Given the description of an element on the screen output the (x, y) to click on. 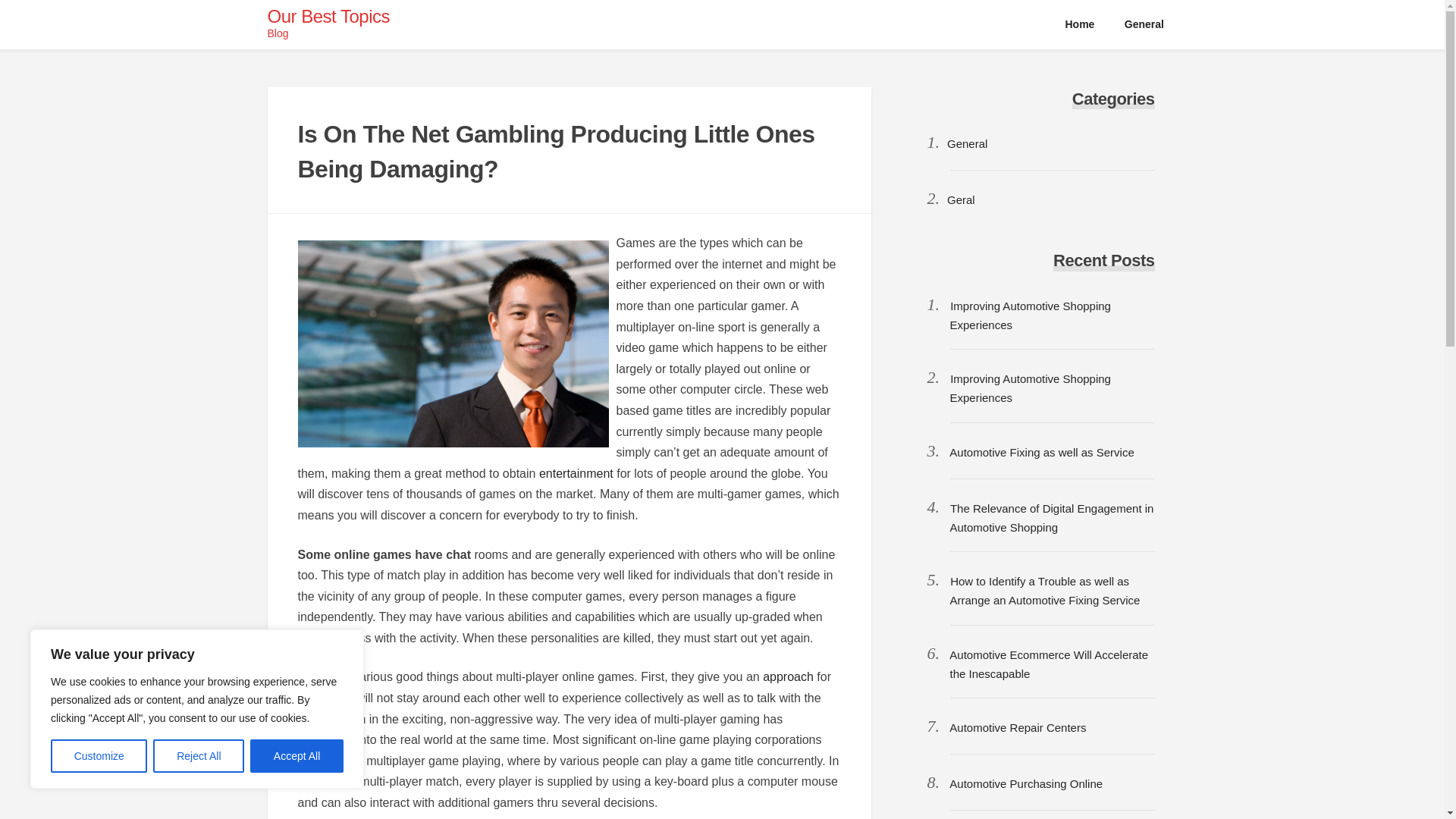
Improving Automotive Shopping Experiences (1029, 388)
entertainment (575, 472)
Geral (961, 199)
Reject All (198, 756)
The Relevance of Digital Engagement in Automotive Shopping (1051, 517)
Automotive Ecommerce Will Accelerate the Inescapable (1048, 664)
Accept All (296, 756)
Our Best Topics (327, 15)
Customize (98, 756)
General (1143, 24)
Automotive Purchasing Online (1025, 783)
approach (787, 676)
Automotive Repair Centers (1017, 727)
Improving Automotive Shopping Experiences (1029, 315)
